Given the description of an element on the screen output the (x, y) to click on. 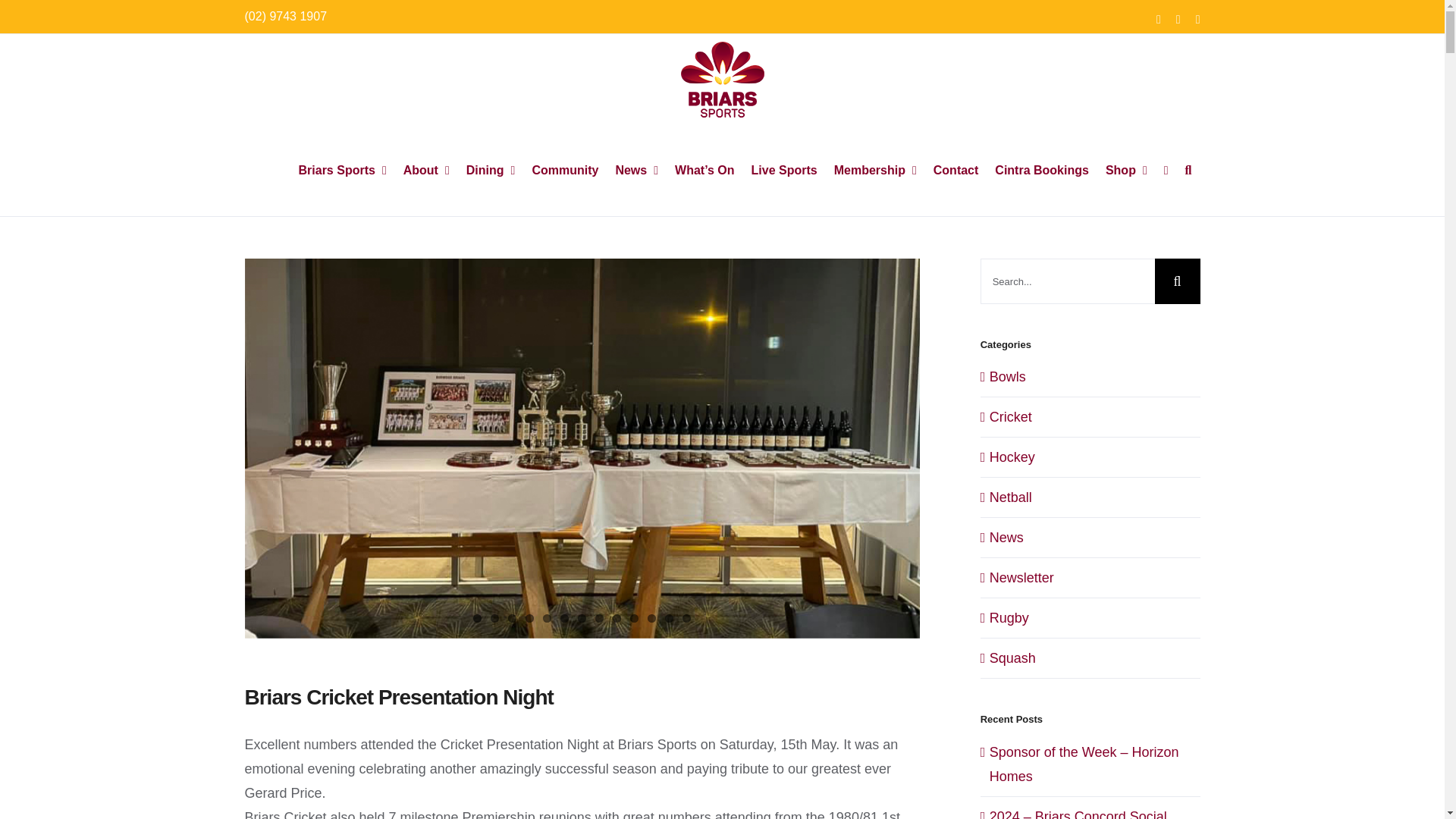
Briars Sports (341, 170)
Community (564, 170)
Live Sports (783, 170)
